Given the description of an element on the screen output the (x, y) to click on. 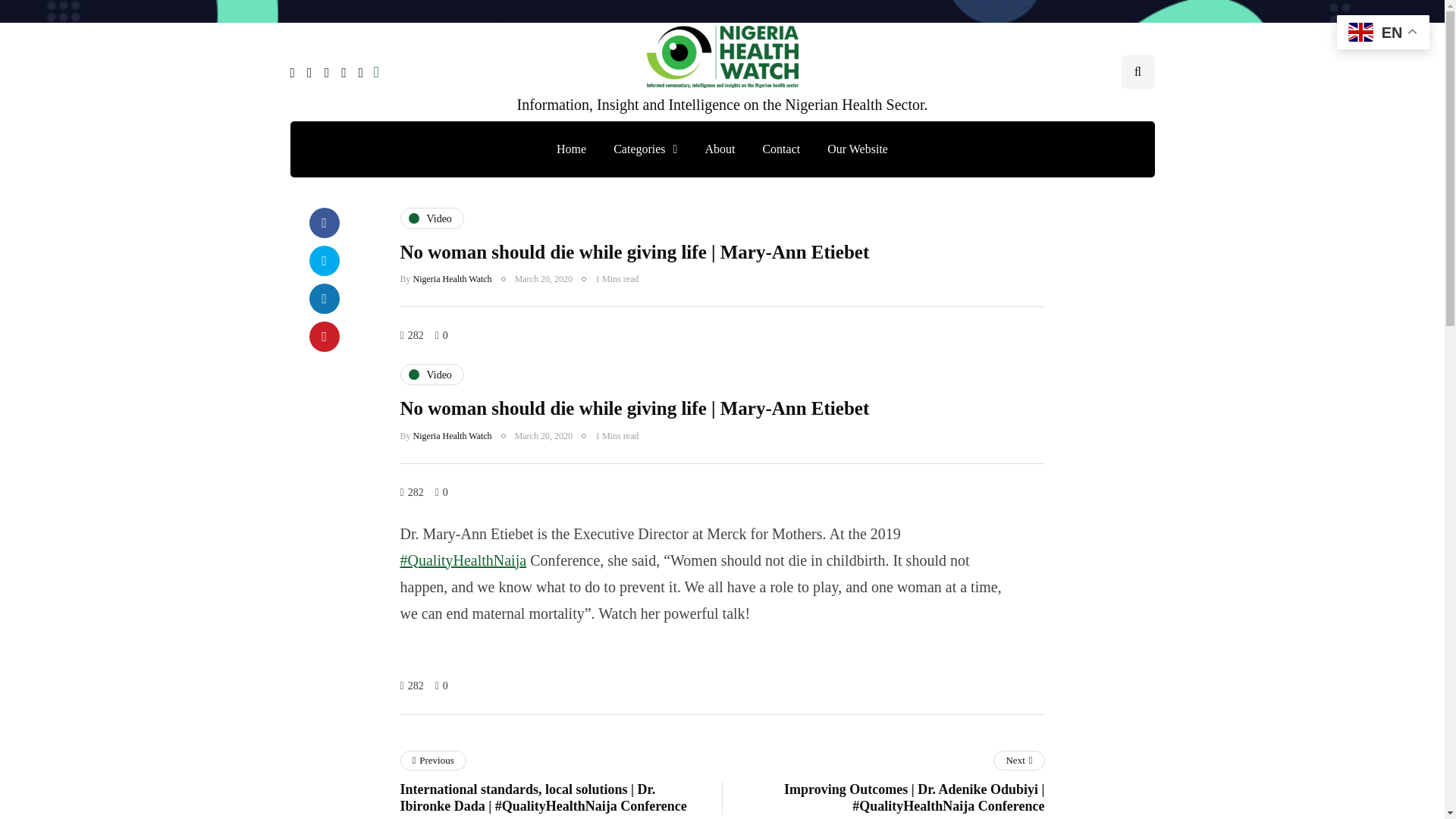
Our Website (857, 149)
About (719, 149)
Video (432, 218)
Pin this (323, 336)
Contact (780, 149)
Categories (644, 149)
Posts by Nigeria Health Watch (452, 435)
Posts by Nigeria Health Watch (452, 278)
Share with LinkedIn (323, 298)
Share with Facebook (323, 223)
Nigeria Health Watch (452, 278)
Home (571, 149)
Video (432, 373)
Nigeria Health Watch (452, 435)
Tweet this (323, 260)
